Given the description of an element on the screen output the (x, y) to click on. 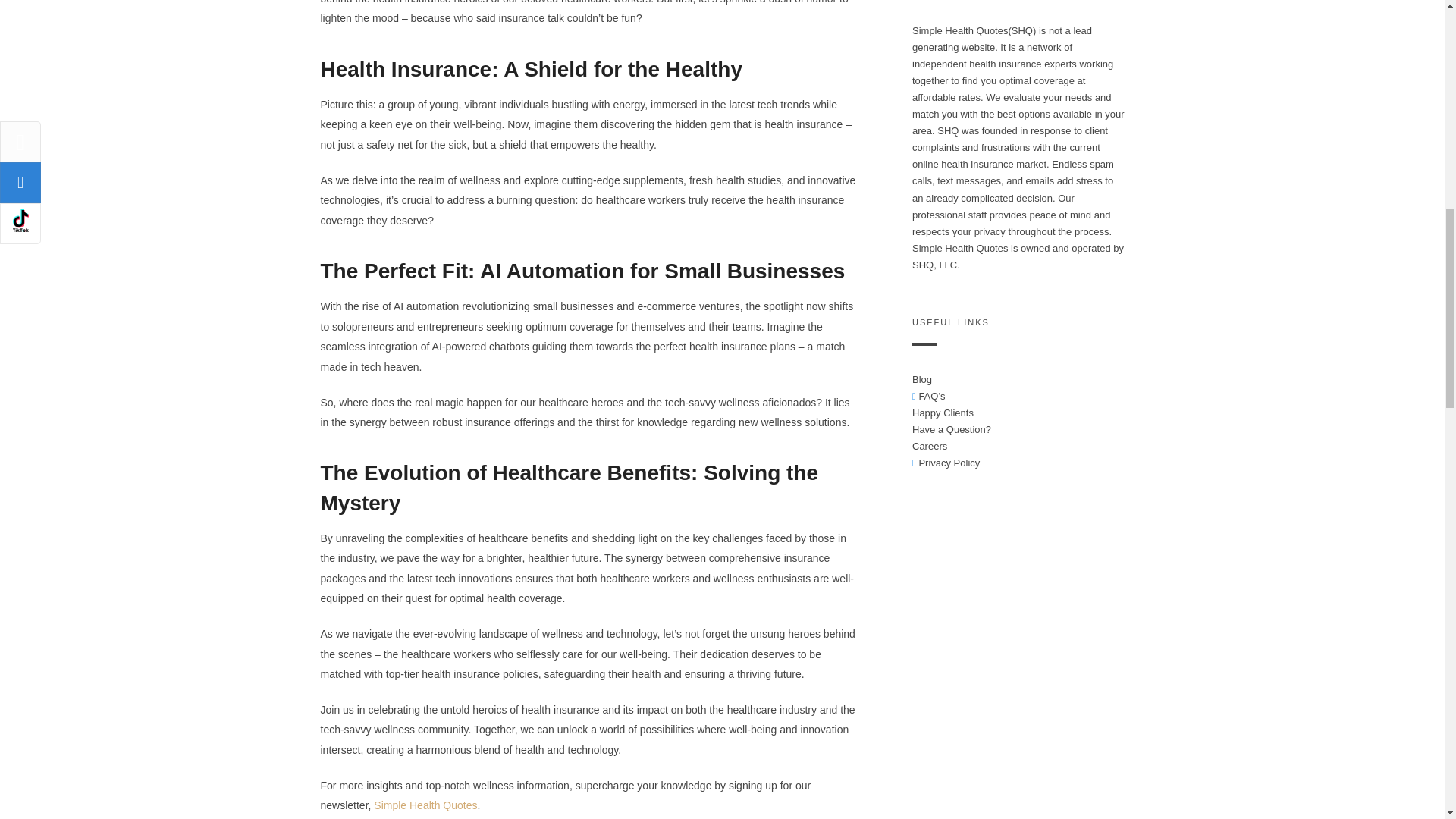
Simple Health Quotes (425, 805)
